Given the description of an element on the screen output the (x, y) to click on. 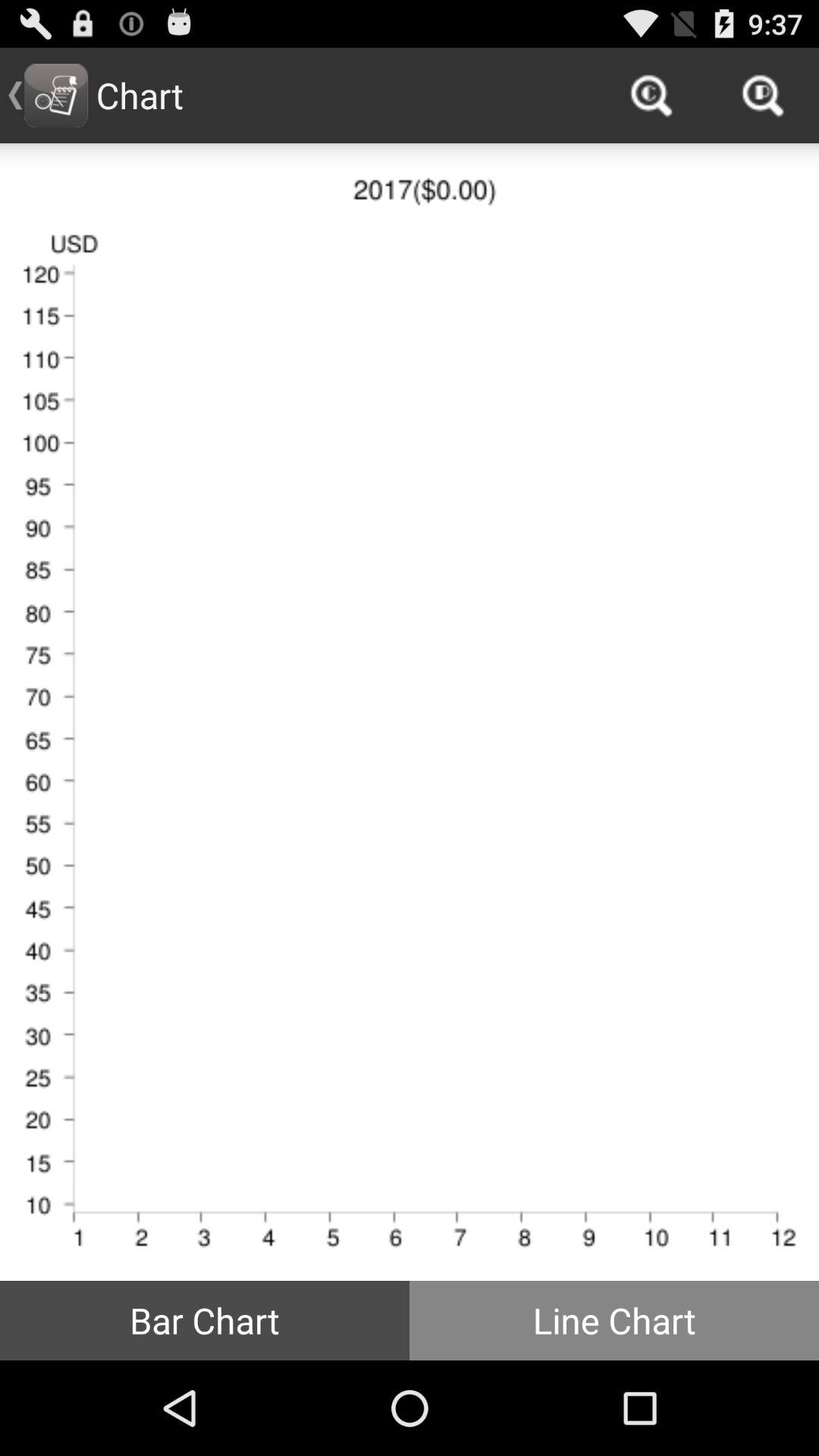
open icon next to the line chart (204, 1320)
